Given the description of an element on the screen output the (x, y) to click on. 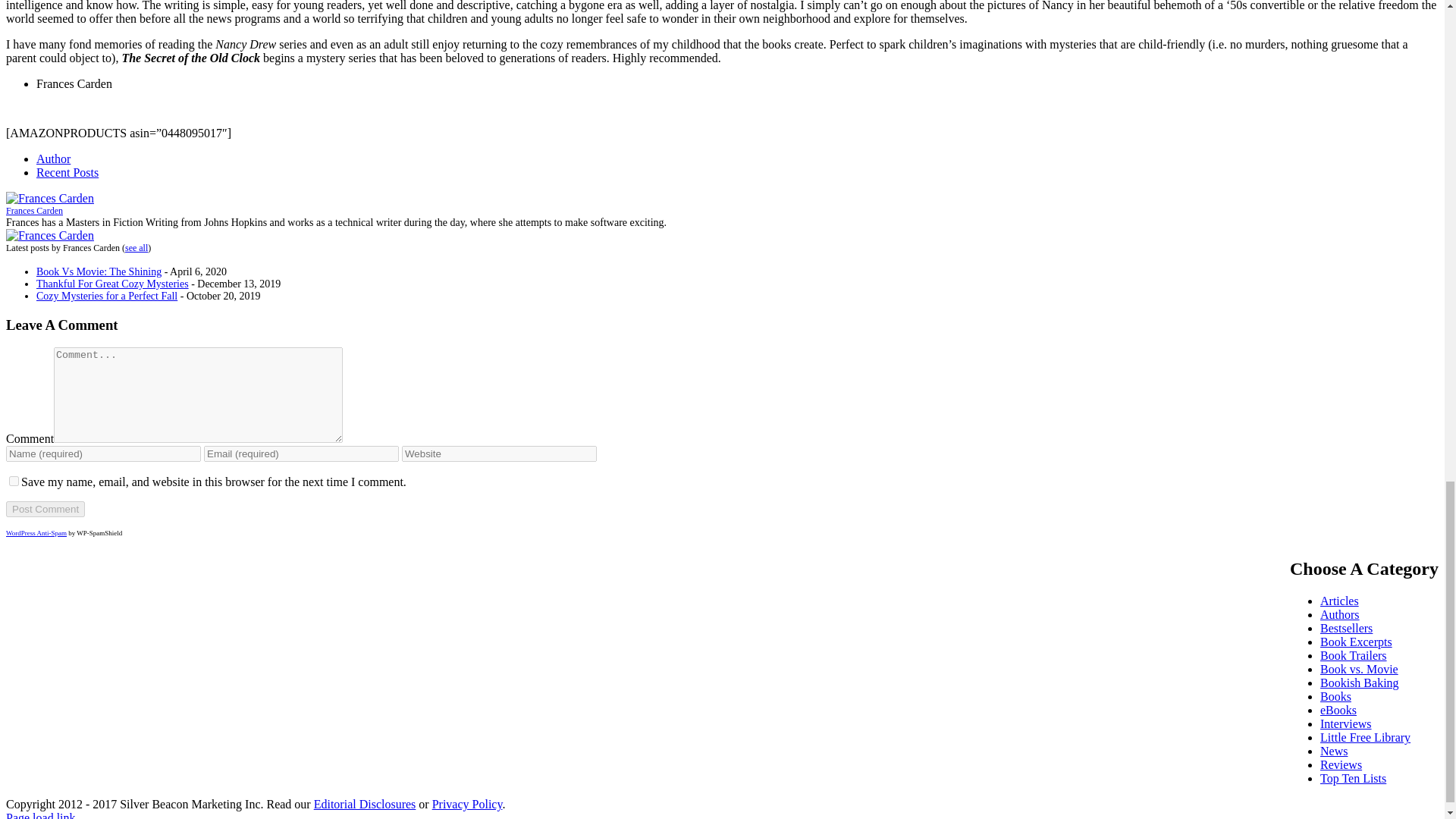
Post Comment (44, 508)
Frances Carden (49, 235)
yes (13, 480)
Frances Carden (49, 197)
WP-SpamShield WordPress Anti-Spam Plugin (35, 533)
